Given the description of an element on the screen output the (x, y) to click on. 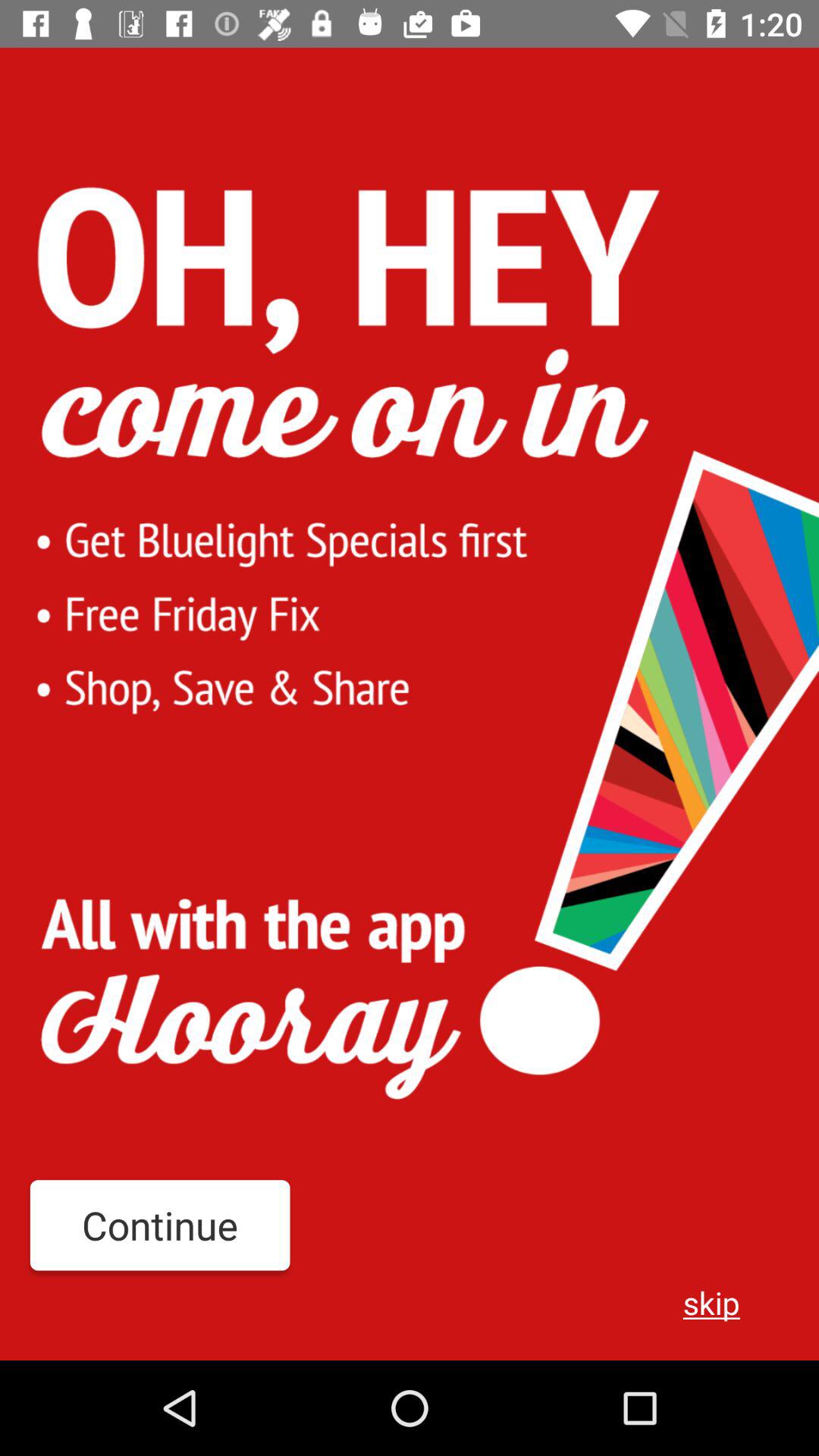
launch the icon to the right of continue (711, 1302)
